Given the description of an element on the screen output the (x, y) to click on. 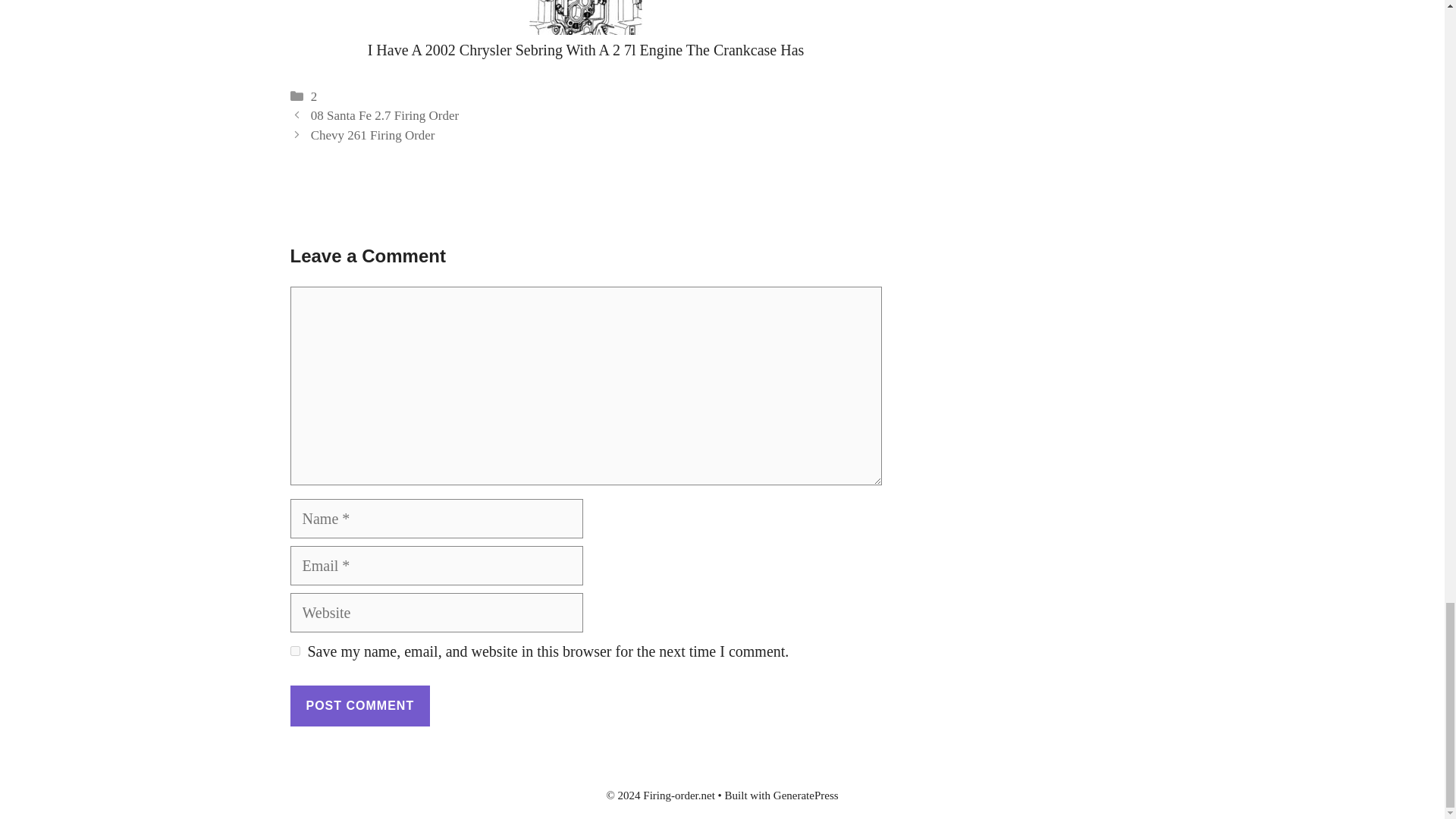
Chevy 261 Firing Order (373, 134)
GeneratePress (805, 795)
08 Santa Fe 2.7 Firing Order (384, 115)
yes (294, 651)
Previous (384, 115)
Next (373, 134)
Post Comment (359, 705)
Post Comment (359, 705)
